Given the description of an element on the screen output the (x, y) to click on. 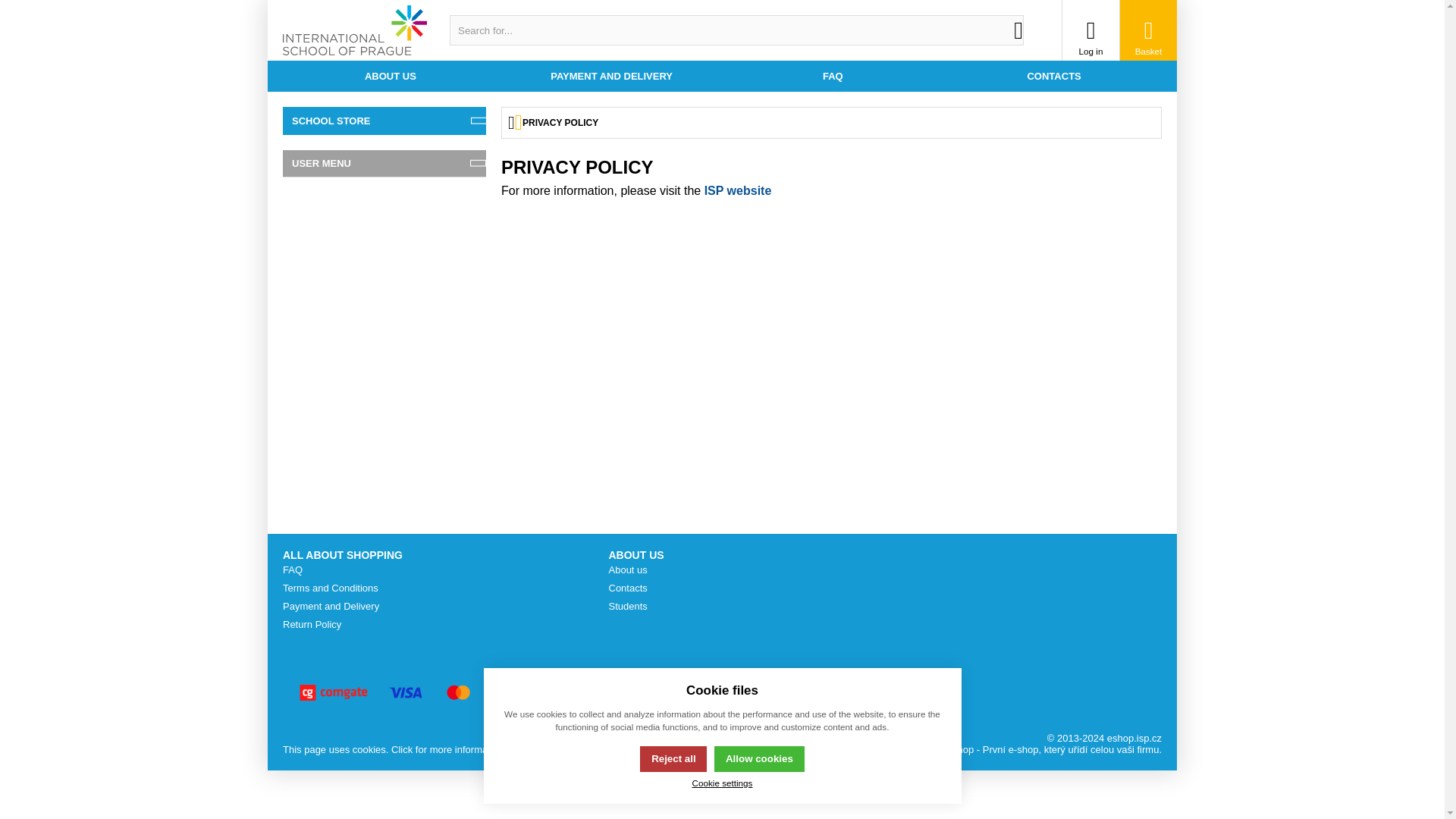
ABOUT US (389, 75)
eshop.isp.cz (354, 30)
PAYMENT AND DELIVERY (611, 75)
Payment and delivery (611, 75)
SCHOOL STORE (384, 121)
About us (389, 75)
